Given the description of an element on the screen output the (x, y) to click on. 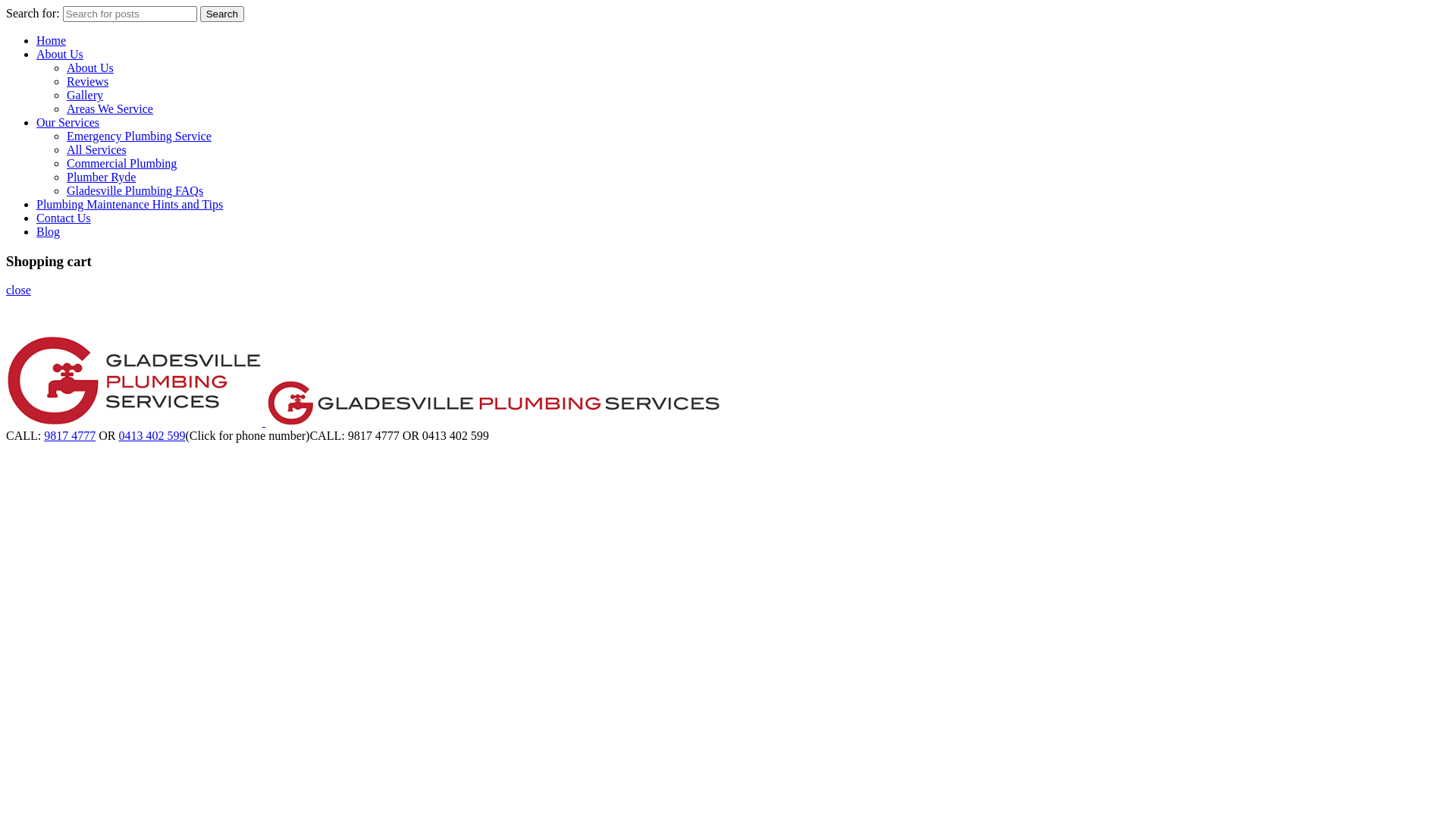
Contact Us Element type: text (63, 217)
All Services Element type: text (96, 149)
Home Element type: text (50, 40)
Search Element type: text (222, 13)
0413 402 599 Element type: text (151, 435)
About Us Element type: text (59, 53)
close Element type: text (18, 289)
Reviews Element type: text (87, 81)
Our Services Element type: text (67, 122)
Commercial Plumbing Element type: text (121, 162)
Blog Element type: text (47, 231)
9817 4777 Element type: text (69, 435)
Emergency Plumbing Service Element type: text (138, 135)
Areas We Service Element type: text (109, 108)
Gallery Element type: text (84, 94)
Gladesville Plumbing FAQs Element type: text (134, 190)
Plumbing Maintenance Hints and Tips Element type: text (129, 203)
About Us Element type: text (89, 67)
Plumber Ryde Element type: text (100, 176)
